Given the description of an element on the screen output the (x, y) to click on. 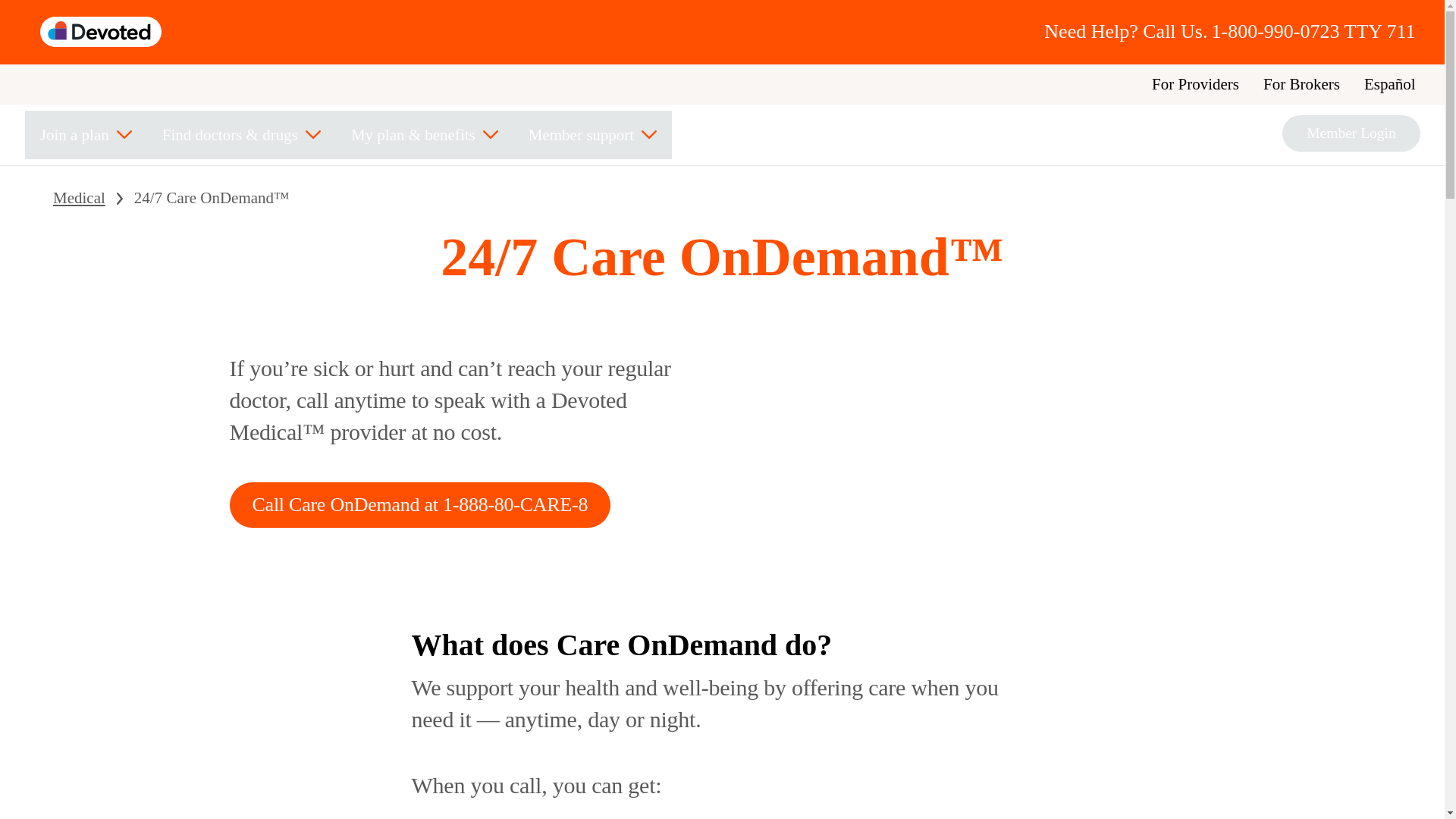
Medical (78, 198)
Member Login (1351, 133)
Call Care OnDemand at 1-888-80-CARE-8 (419, 504)
For Providers (1195, 84)
For Brokers (1301, 84)
Devoted Health (100, 31)
Join a plan (85, 134)
1-800-990-0723 TTY 711 (1313, 31)
Member support (592, 134)
